Given the description of an element on the screen output the (x, y) to click on. 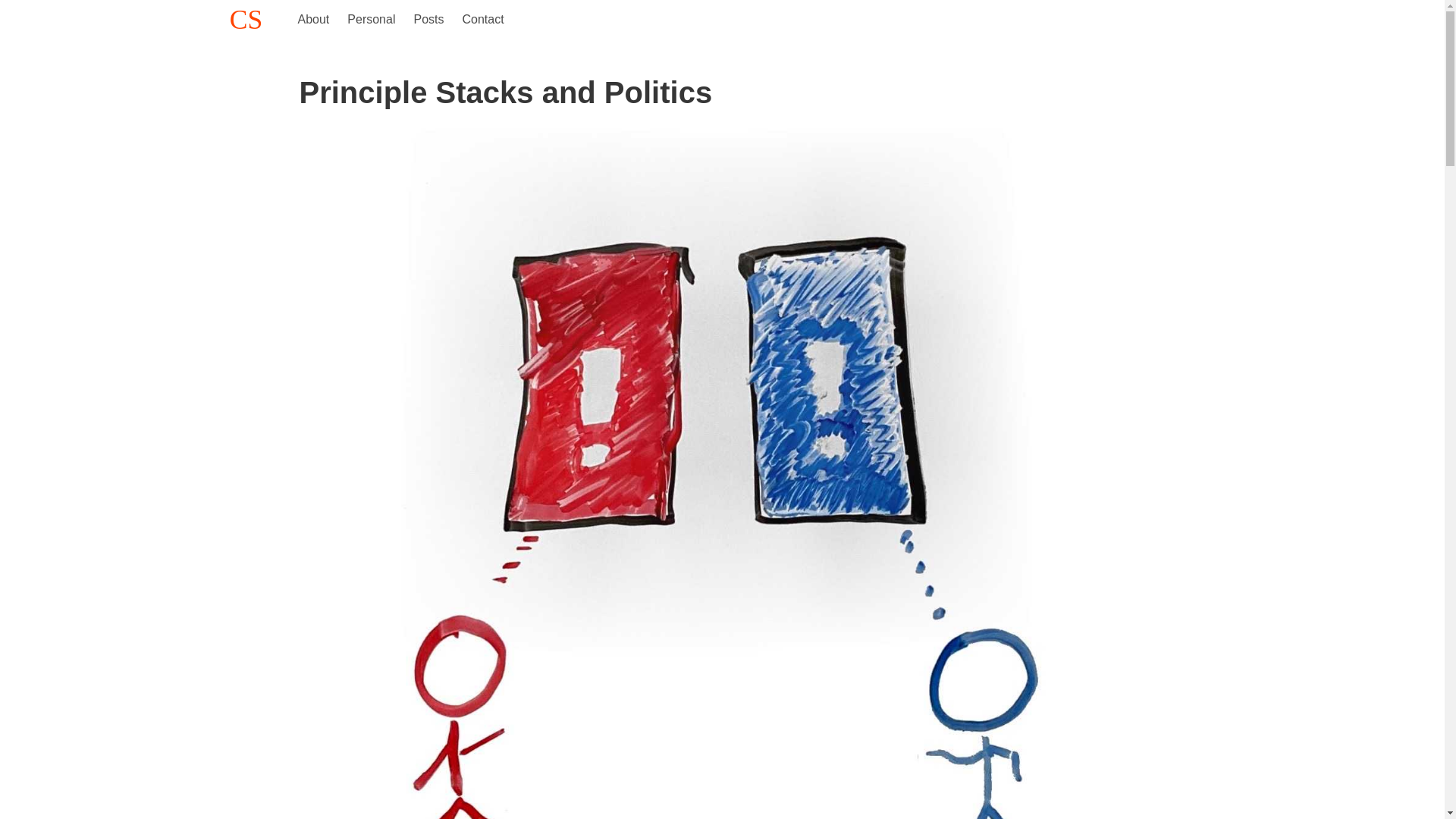
Personal (370, 19)
About (312, 19)
Logo (245, 19)
Contact (482, 19)
Posts (428, 19)
